Given the description of an element on the screen output the (x, y) to click on. 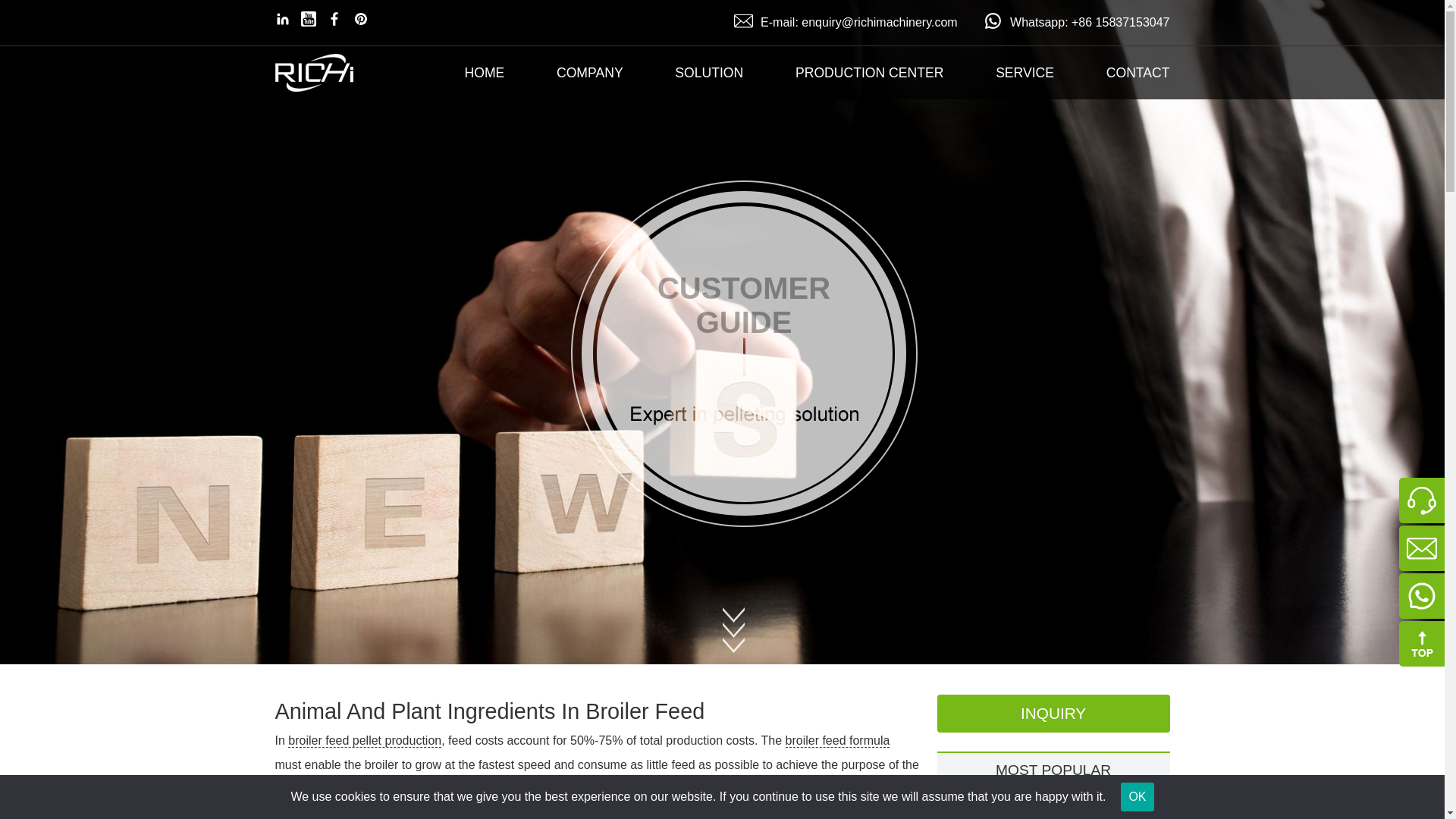
Pelletizing Solutions (708, 72)
mail to RICHI (859, 21)
About Richi (589, 72)
SOLUTION (708, 72)
COMPANY (589, 72)
